Given the description of an element on the screen output the (x, y) to click on. 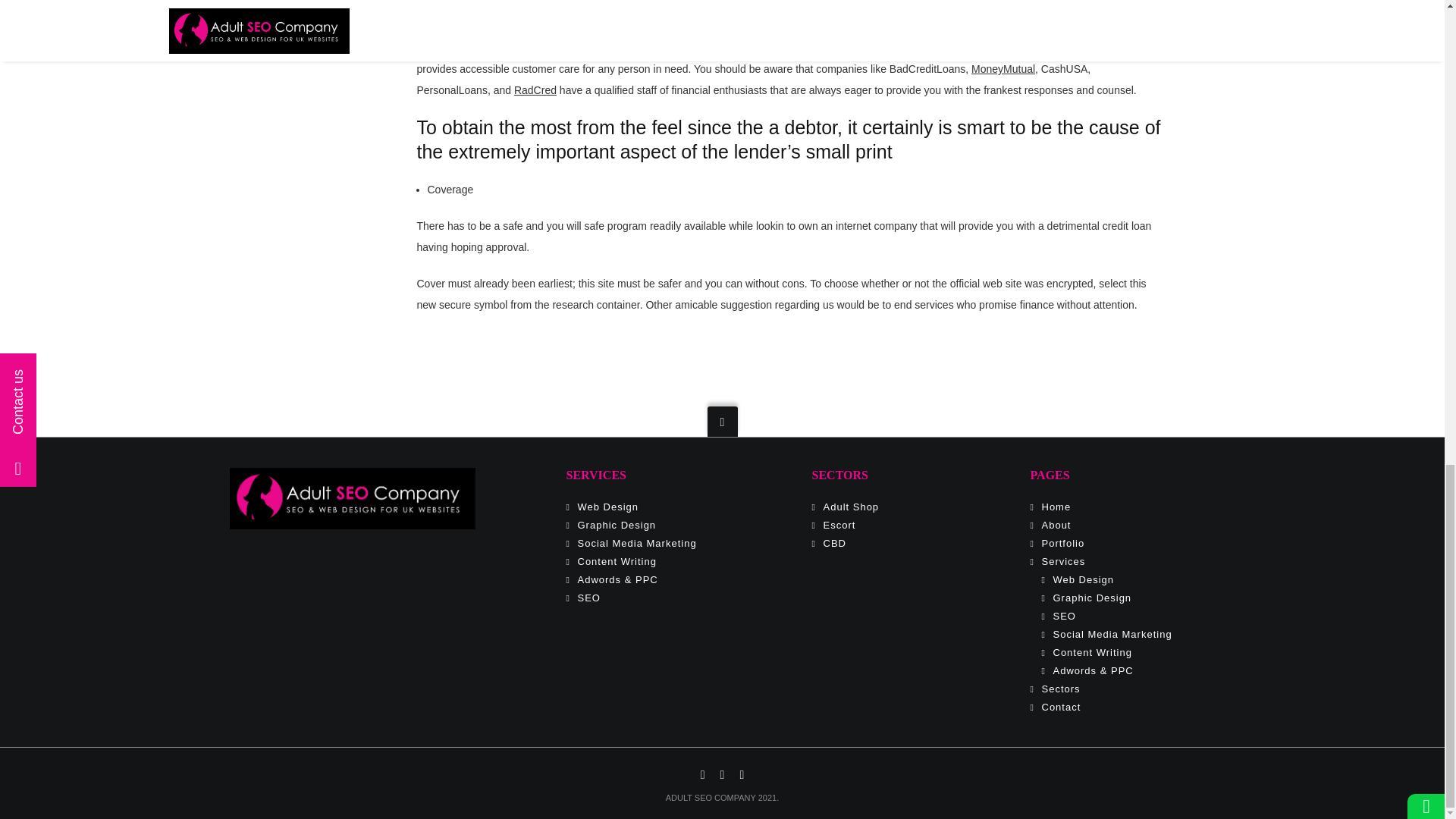
About (1056, 524)
Escort (840, 524)
Adult Shop (851, 506)
Social Media Marketing (637, 542)
CBD (834, 542)
Graphic Design (617, 524)
Content Writing (617, 561)
SEO (588, 597)
Home (1056, 506)
Web Design (608, 506)
